Given the description of an element on the screen output the (x, y) to click on. 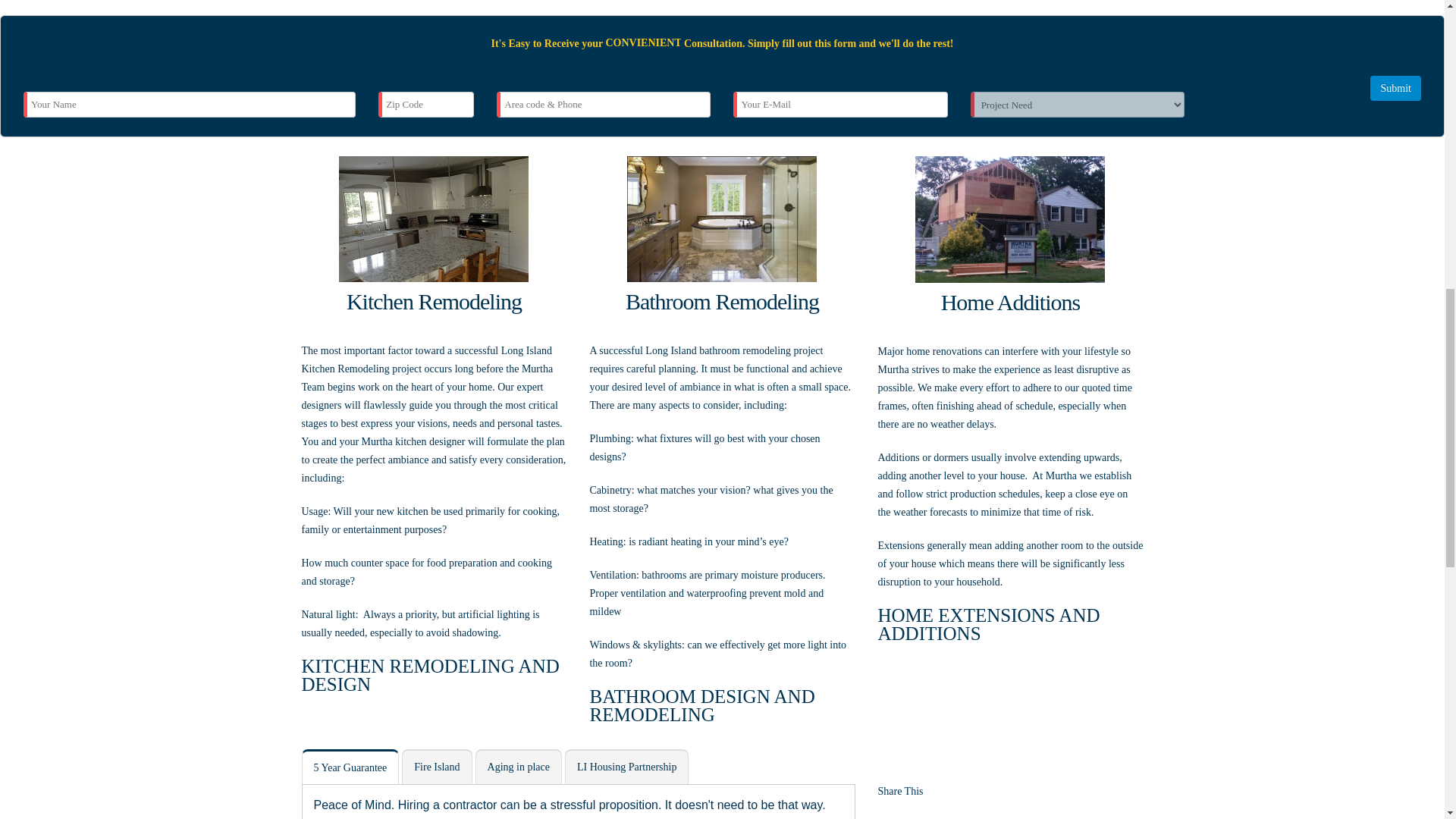
Long Island, Home Additions Long Island Home Extensions (1010, 219)
Project need (1078, 103)
Your Name (189, 103)
Submit (1395, 88)
Your Zip Code (426, 103)
Kitchens (430, 674)
Long Island Kitchen Contractor (433, 218)
Long Island Bathroom Contractor (721, 218)
Your E-Mail address (840, 103)
